Given the description of an element on the screen output the (x, y) to click on. 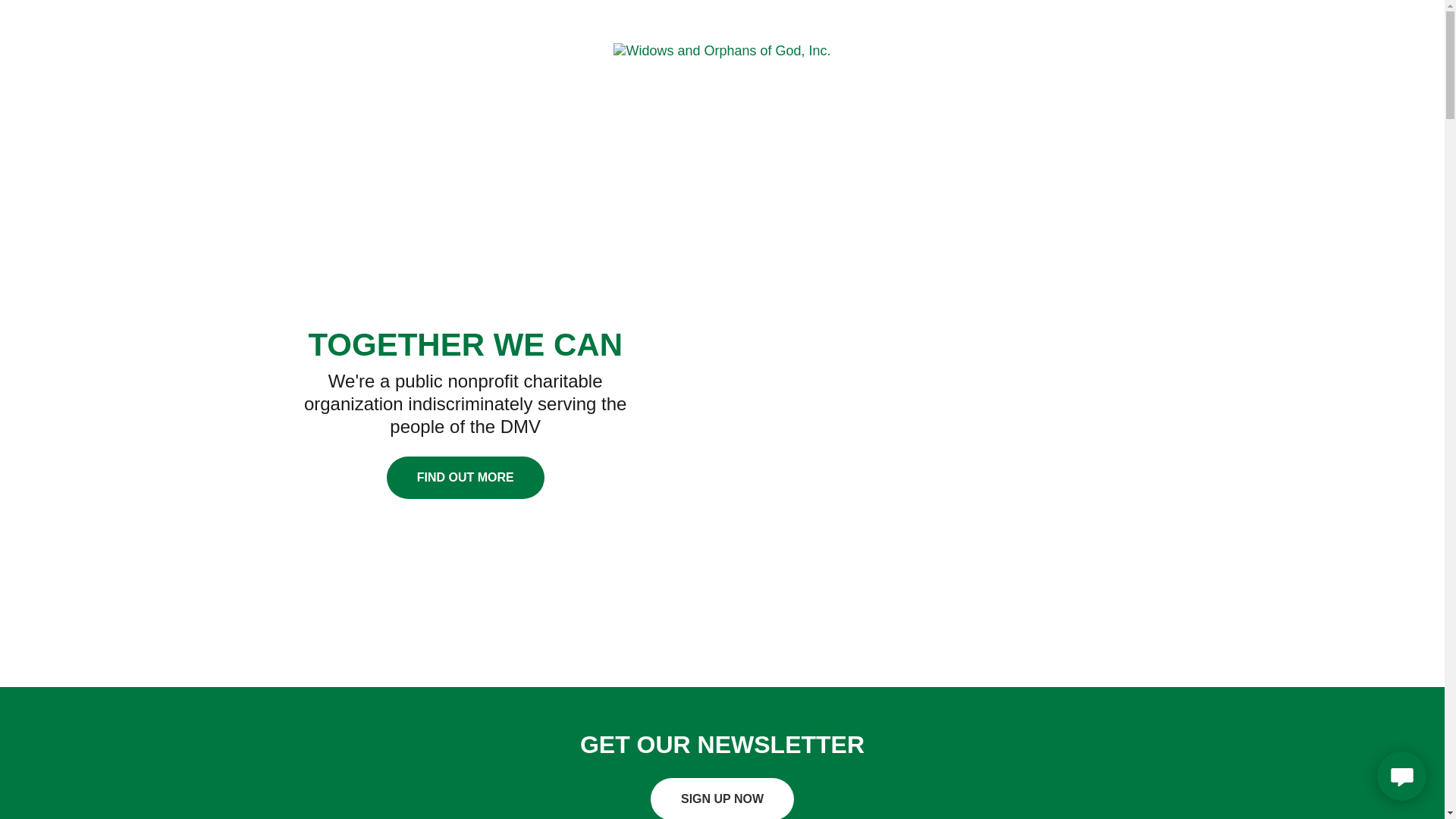
Widows and Orphans of God, Inc. (720, 49)
SIGN UP NOW (721, 798)
FIND OUT MORE (465, 477)
